Given the description of an element on the screen output the (x, y) to click on. 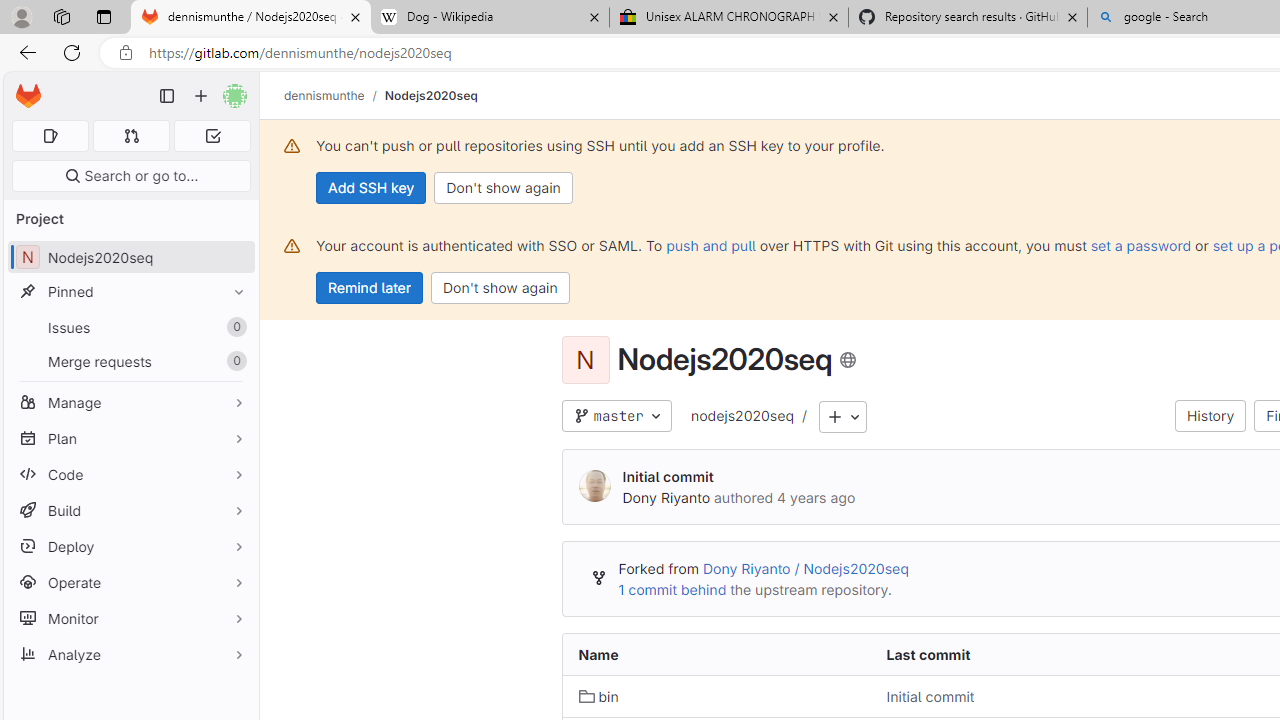
Nodejs2020seq (430, 95)
nodejs2020seq (741, 417)
bin (598, 696)
Initial commit (1024, 696)
master (616, 416)
Plan (130, 438)
NNodejs2020seq (130, 257)
Plan (130, 438)
Add to tree (843, 417)
Analyze (130, 654)
